Given the description of an element on the screen output the (x, y) to click on. 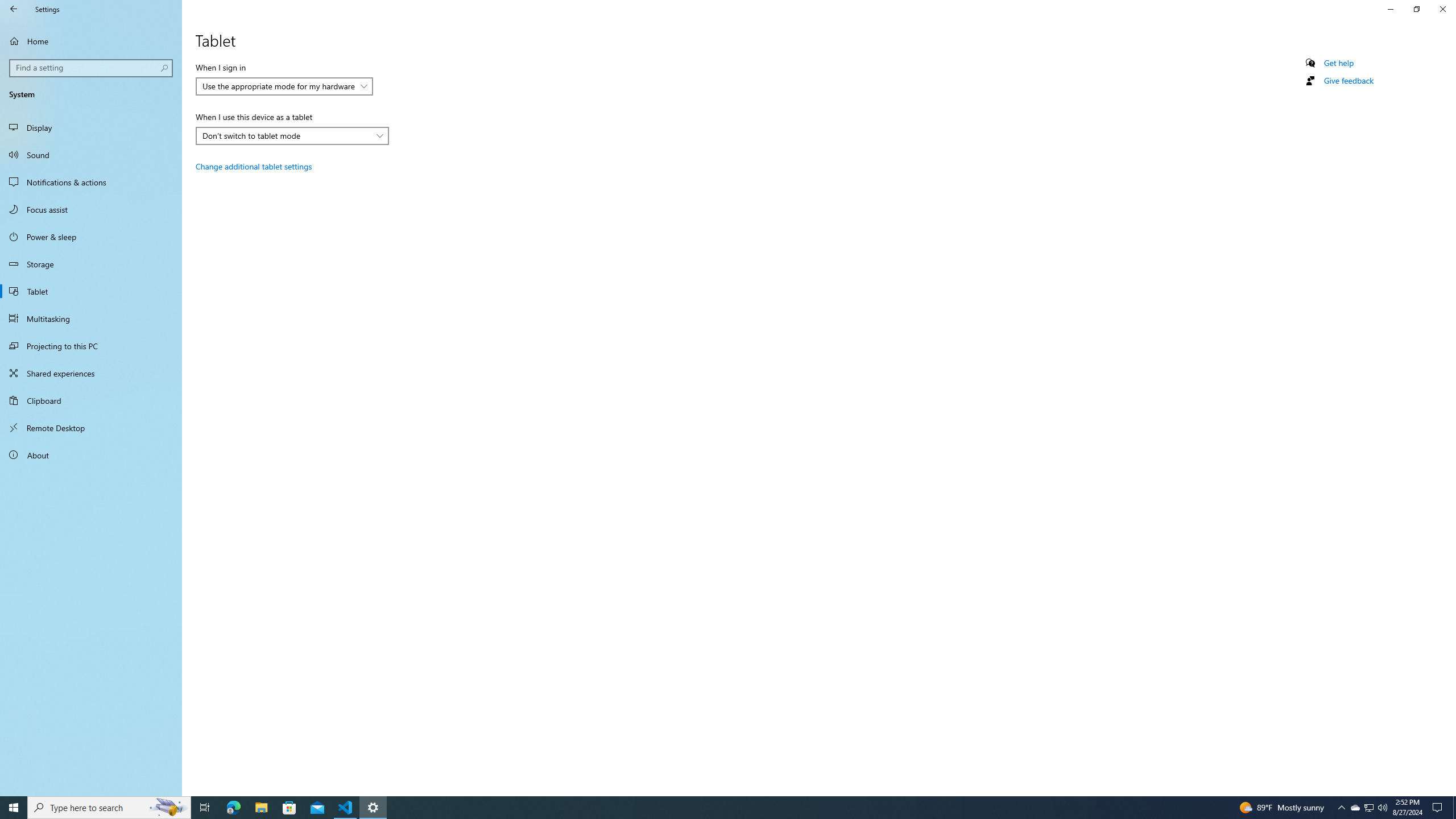
Shared experiences (91, 372)
About (91, 454)
Notification Chevron (1355, 807)
Restore Settings (1341, 807)
Use the appropriate mode for my hardware (1416, 9)
When I sign in (278, 86)
When I use this device as a tablet (283, 85)
Microsoft Edge (291, 135)
Running applications (233, 807)
Visual Studio Code - 1 running window (717, 807)
Multitasking (345, 807)
Tablet (91, 318)
Remote Desktop (91, 290)
